Given the description of an element on the screen output the (x, y) to click on. 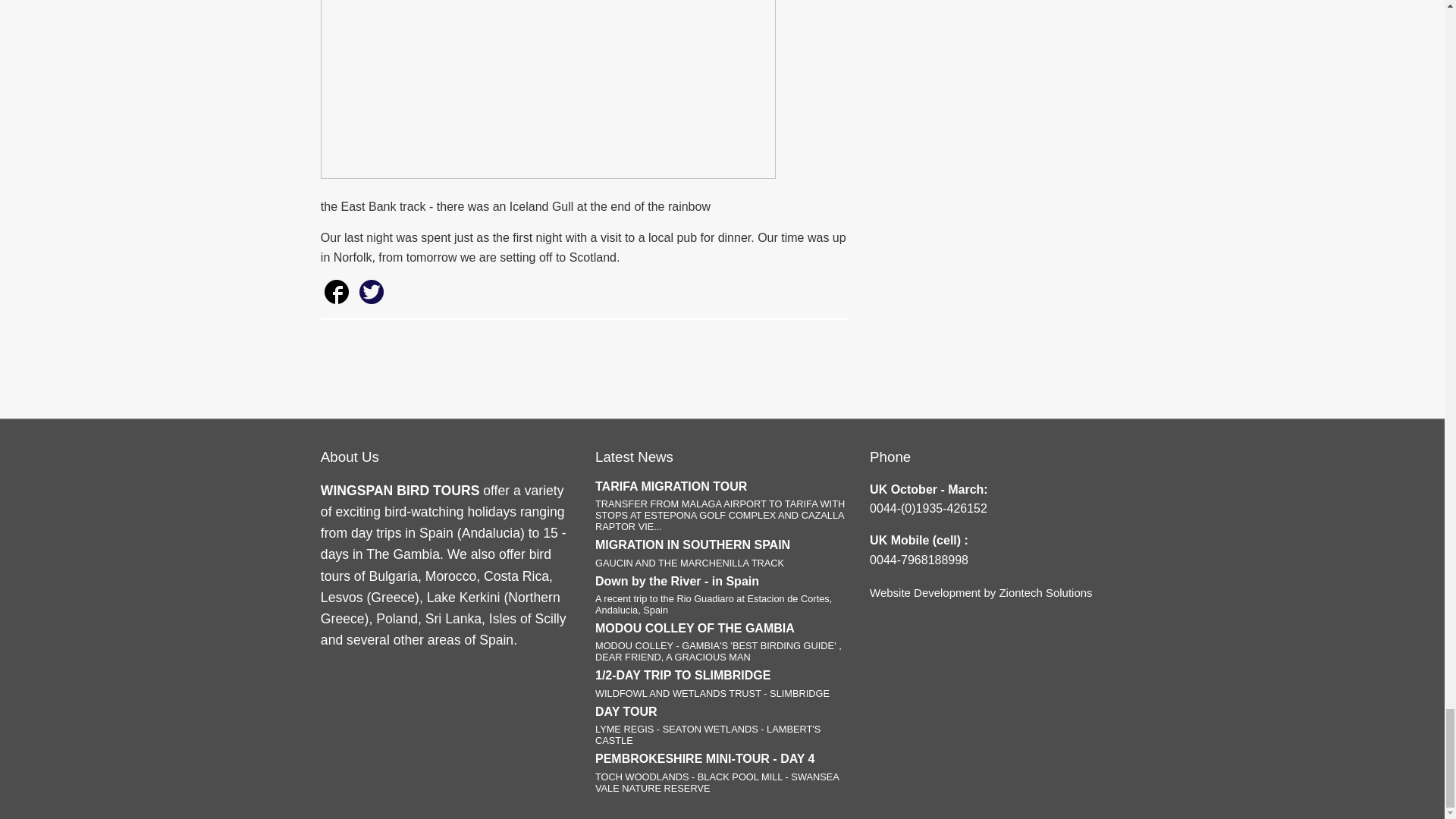
Ziontech Solutions (721, 725)
About Us (721, 553)
Latest News (1045, 592)
